Given the description of an element on the screen output the (x, y) to click on. 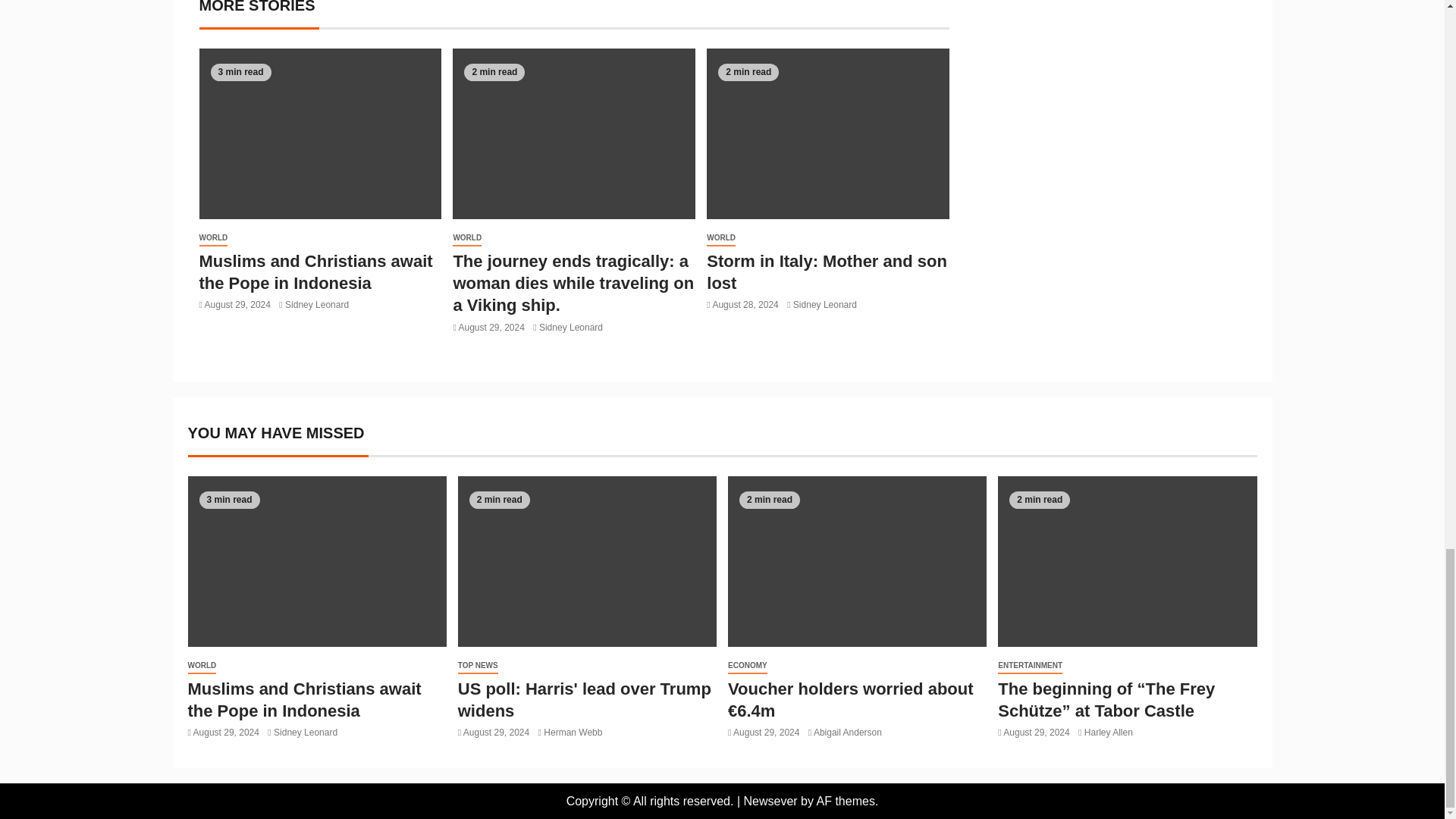
WORLD (212, 238)
WORLD (466, 238)
Sidney Leonard (317, 304)
Muslims and Christians await the Pope in Indonesia (315, 271)
